Given the description of an element on the screen output the (x, y) to click on. 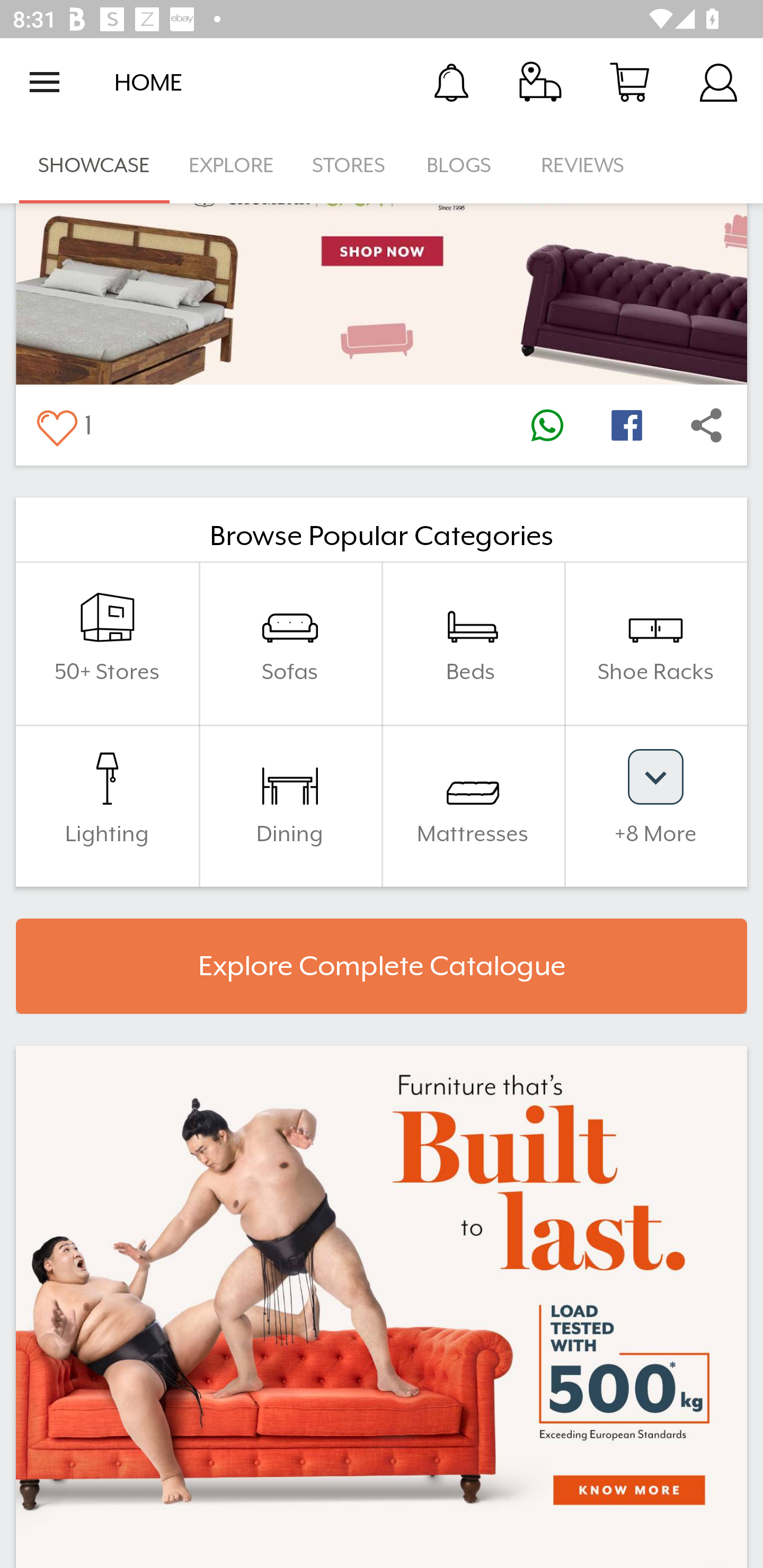
Open navigation drawer (44, 82)
Notification (450, 81)
Track Order (540, 81)
Cart (629, 81)
Account Details (718, 81)
SHOWCASE (94, 165)
EXPLORE (230, 165)
STORES (349, 165)
BLOGS (464, 165)
REVIEWS (582, 165)
 (55, 424)
 (547, 424)
 (626, 424)
 (706, 424)
50+ Stores (106, 643)
Sofas (289, 643)
Beds  (473, 643)
Shoe Racks (655, 643)
Lighting (106, 805)
Dining (289, 805)
Mattresses (473, 805)
 +8 More (655, 805)
Explore Complete Catalogue (381, 966)
